Given the description of an element on the screen output the (x, y) to click on. 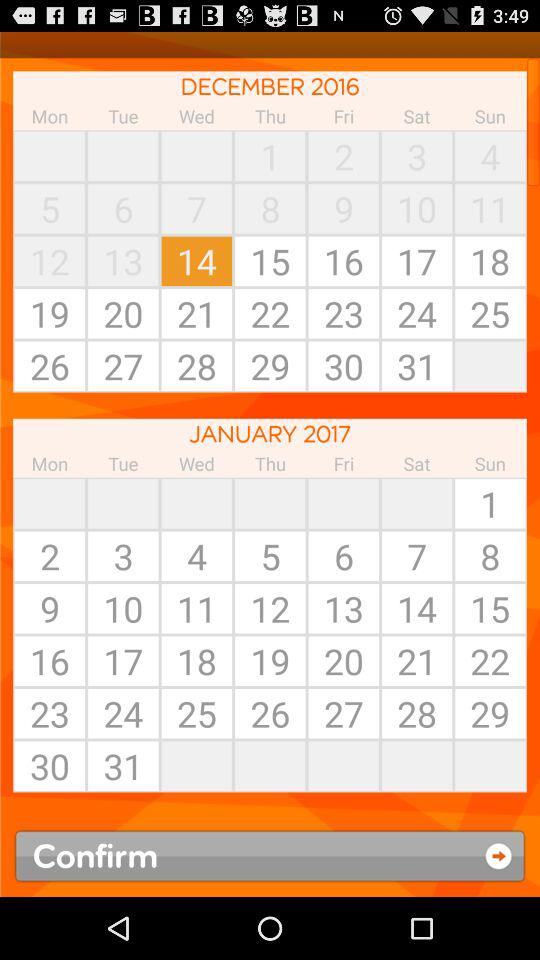
launch confirm item (269, 855)
